Given the description of an element on the screen output the (x, y) to click on. 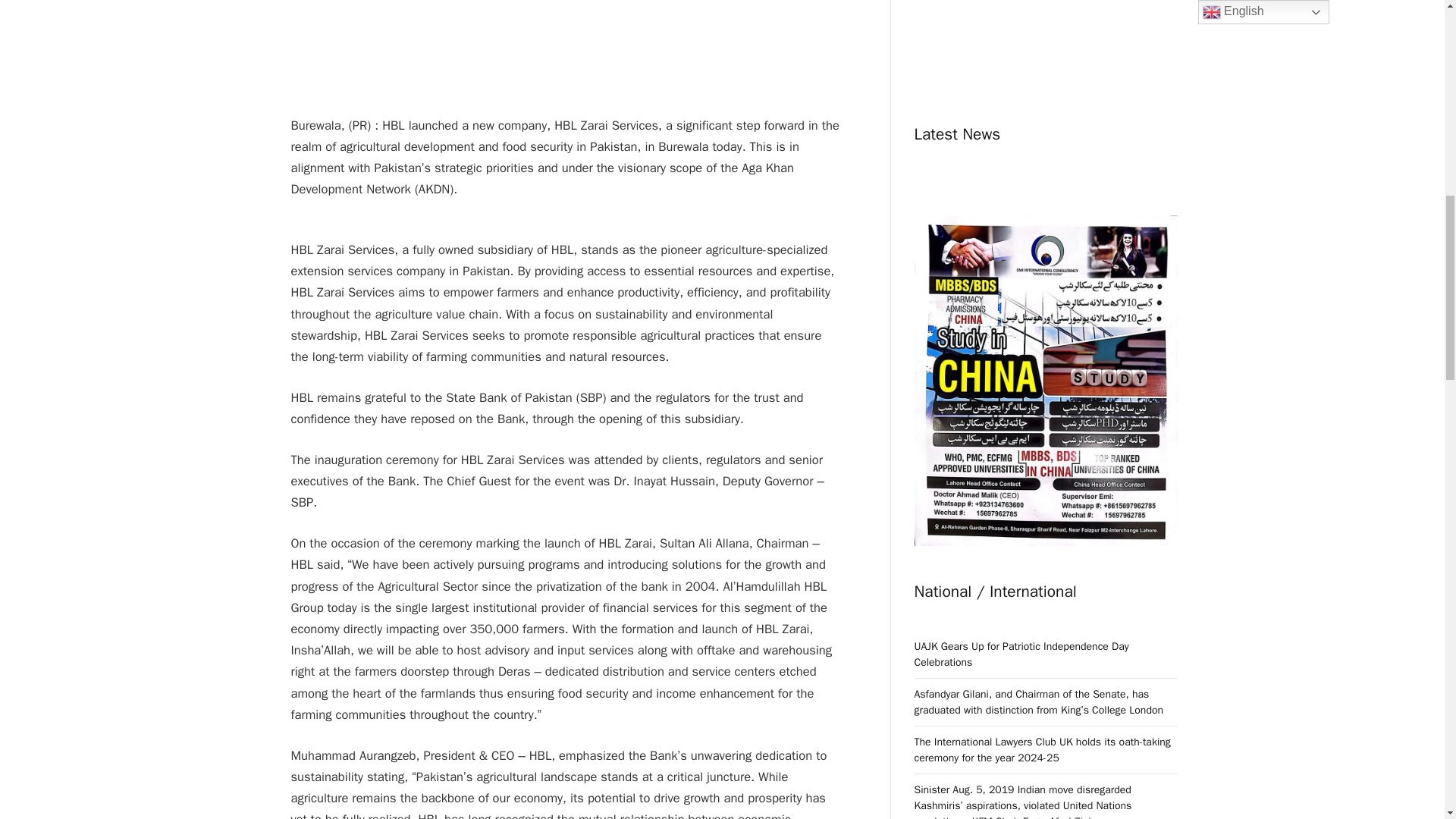
Advertisement (566, 27)
